Given the description of an element on the screen output the (x, y) to click on. 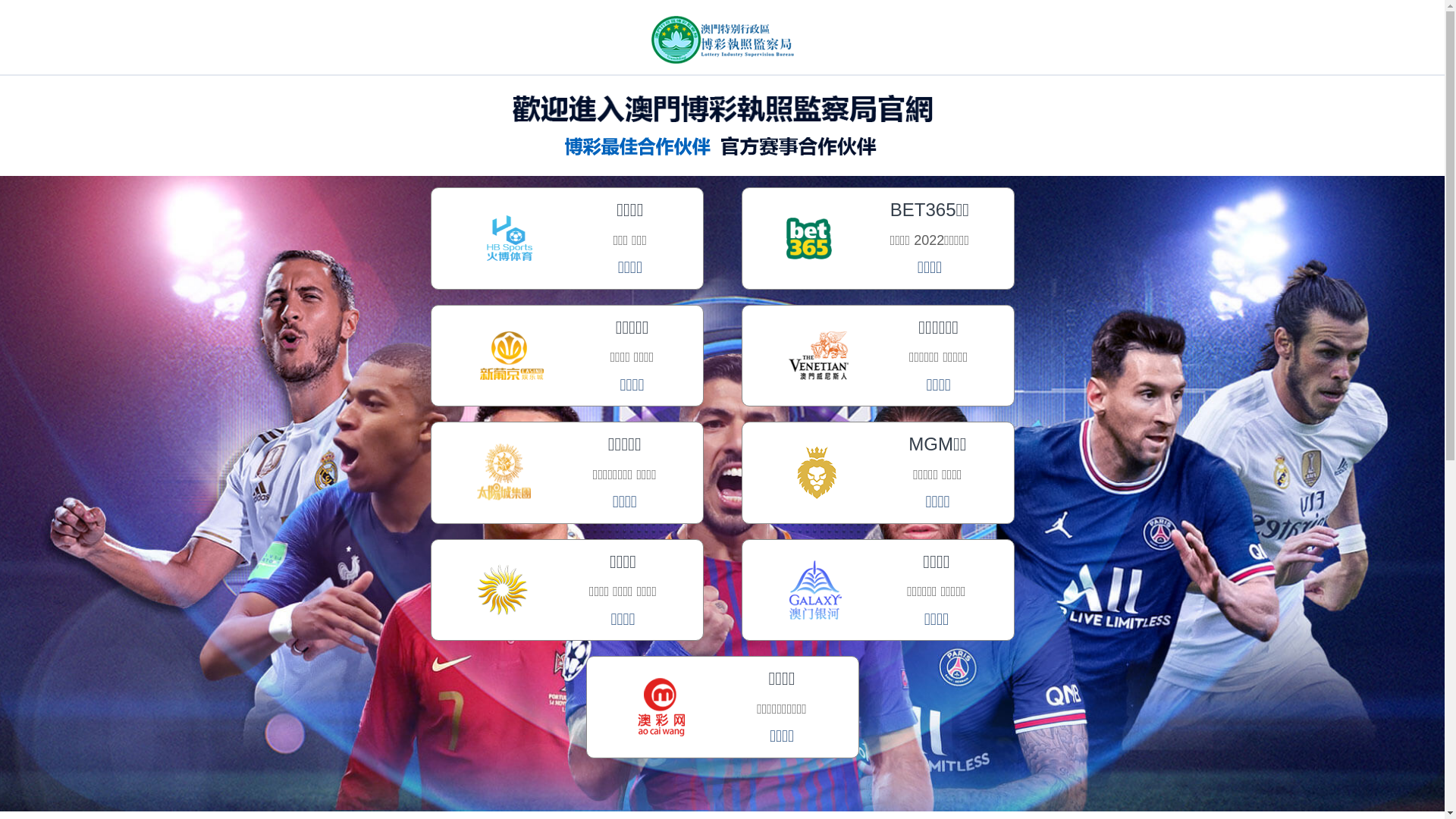
. Element type: text (1234, 33)
